Given the description of an element on the screen output the (x, y) to click on. 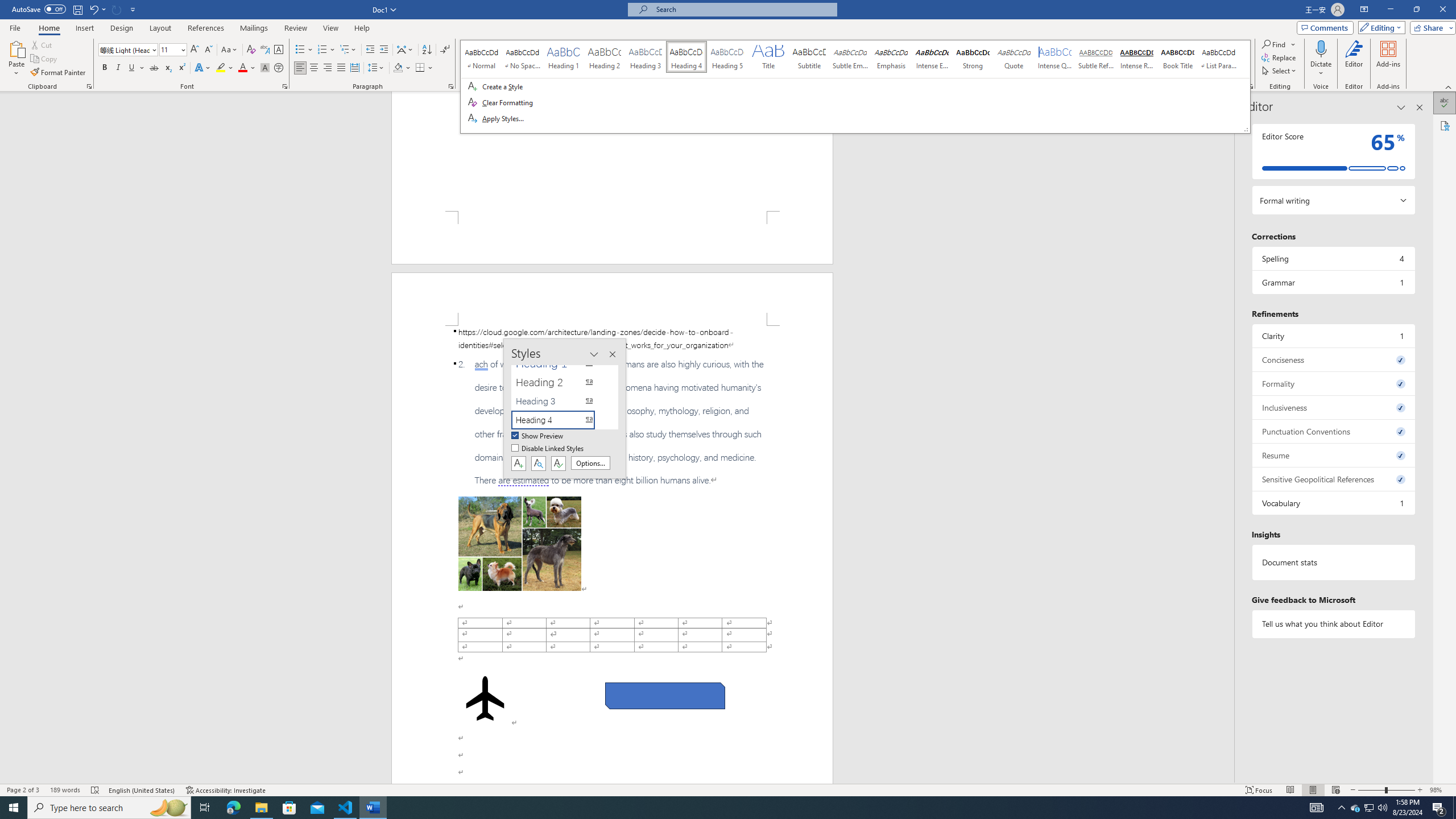
Visual Studio Code - 1 running window (345, 807)
Microsoft Store (289, 807)
Show Preview (537, 436)
Can't Repeat (117, 9)
Morphological variation in six dogs (519, 543)
